Given the description of an element on the screen output the (x, y) to click on. 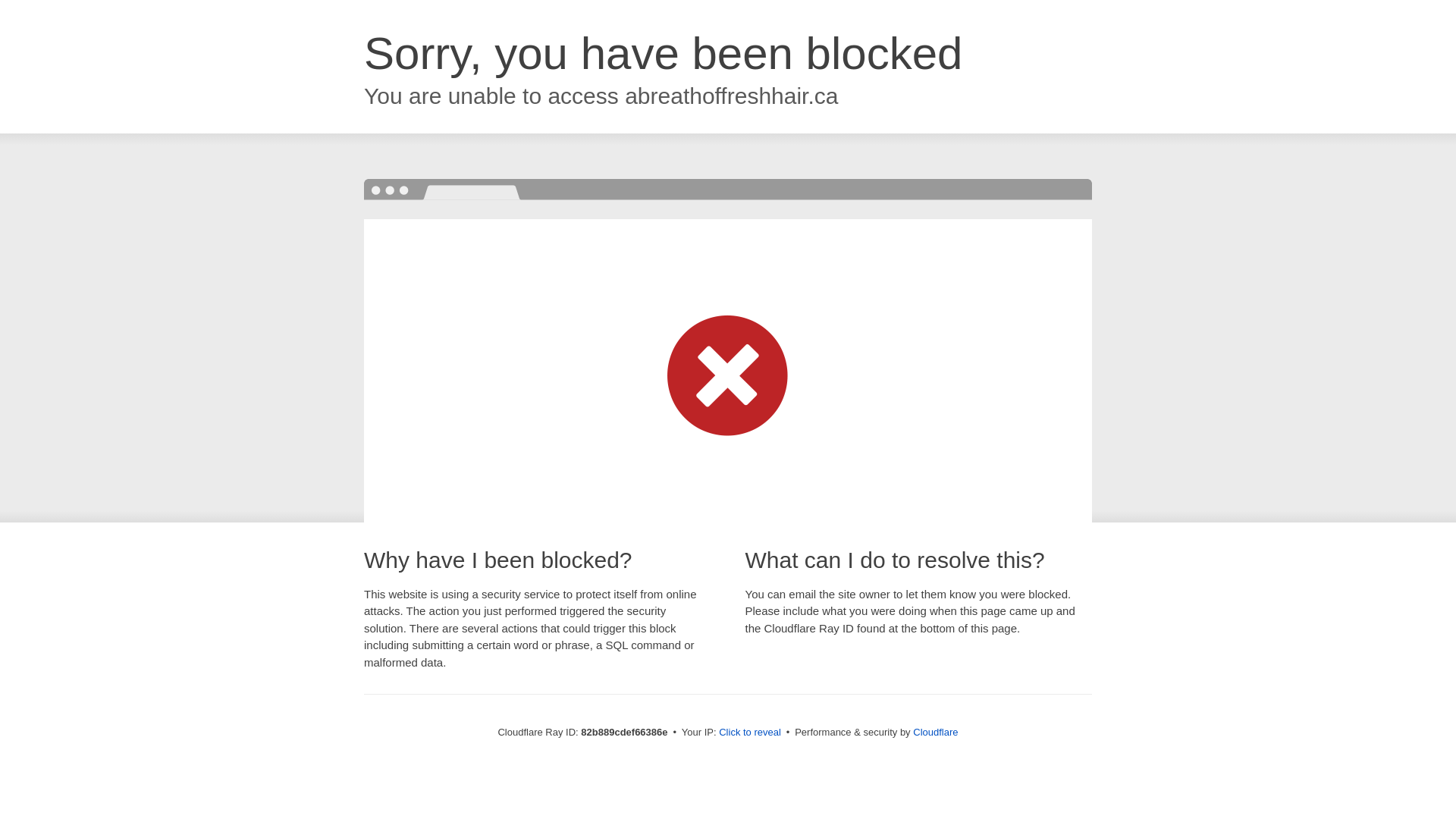
Click to reveal Element type: text (749, 732)
Cloudflare Element type: text (935, 731)
